Given the description of an element on the screen output the (x, y) to click on. 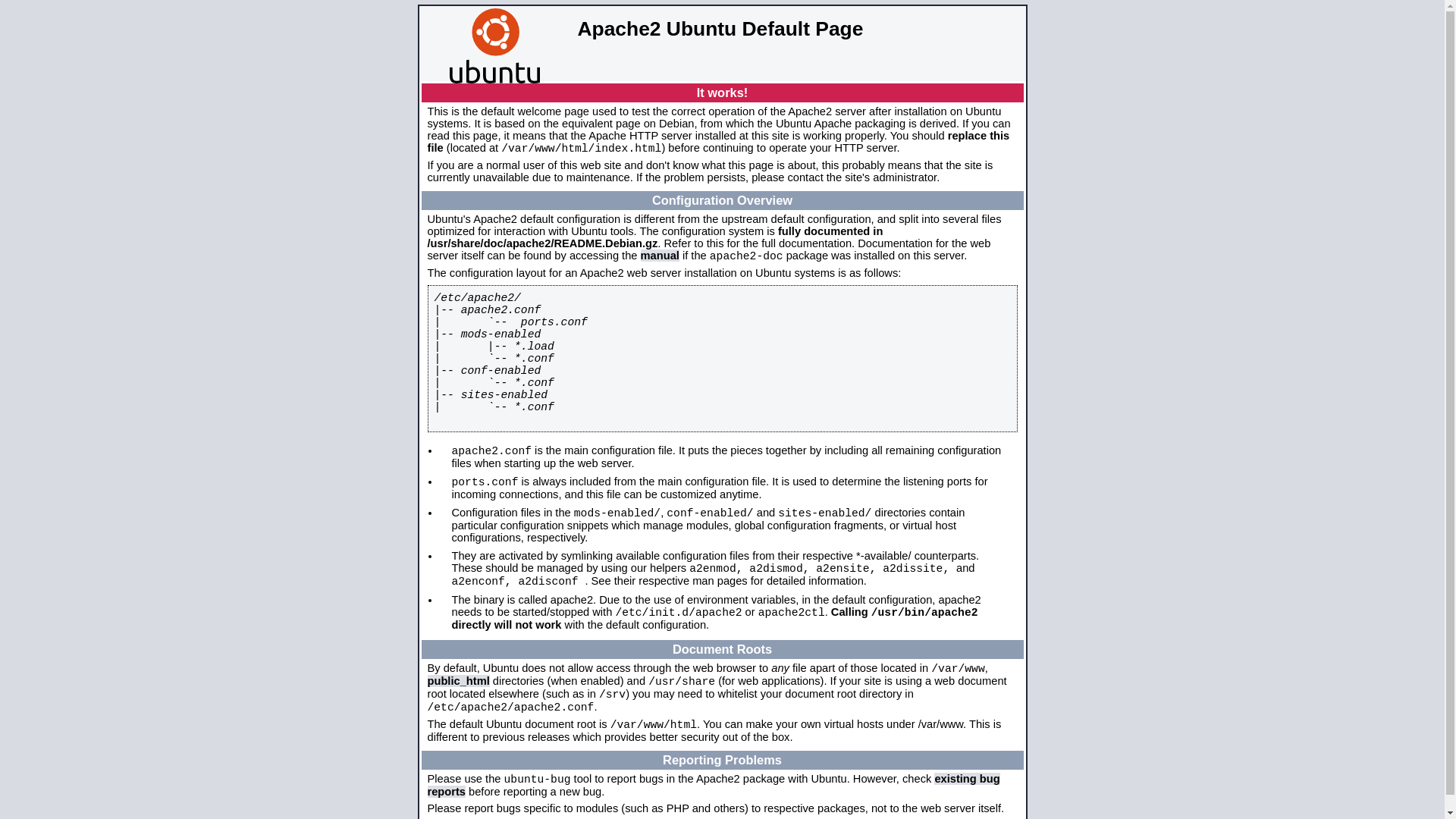
manual Element type: text (659, 255)
existing bug reports Element type: text (713, 784)
public_html Element type: text (458, 680)
